Given the description of an element on the screen output the (x, y) to click on. 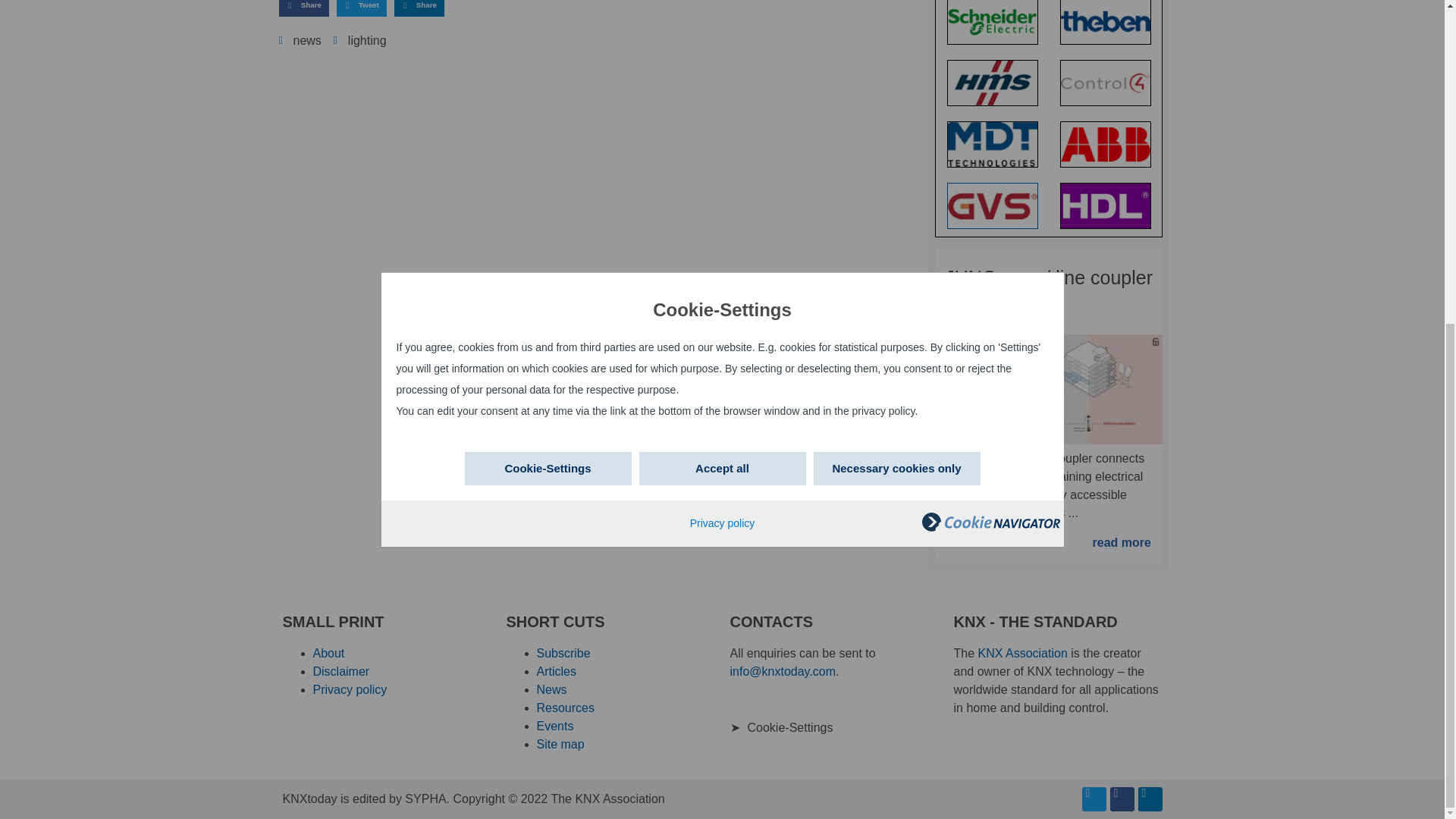
Cookie-Navigator (990, 2)
Cookie-Navigator (990, 1)
